Given the description of an element on the screen output the (x, y) to click on. 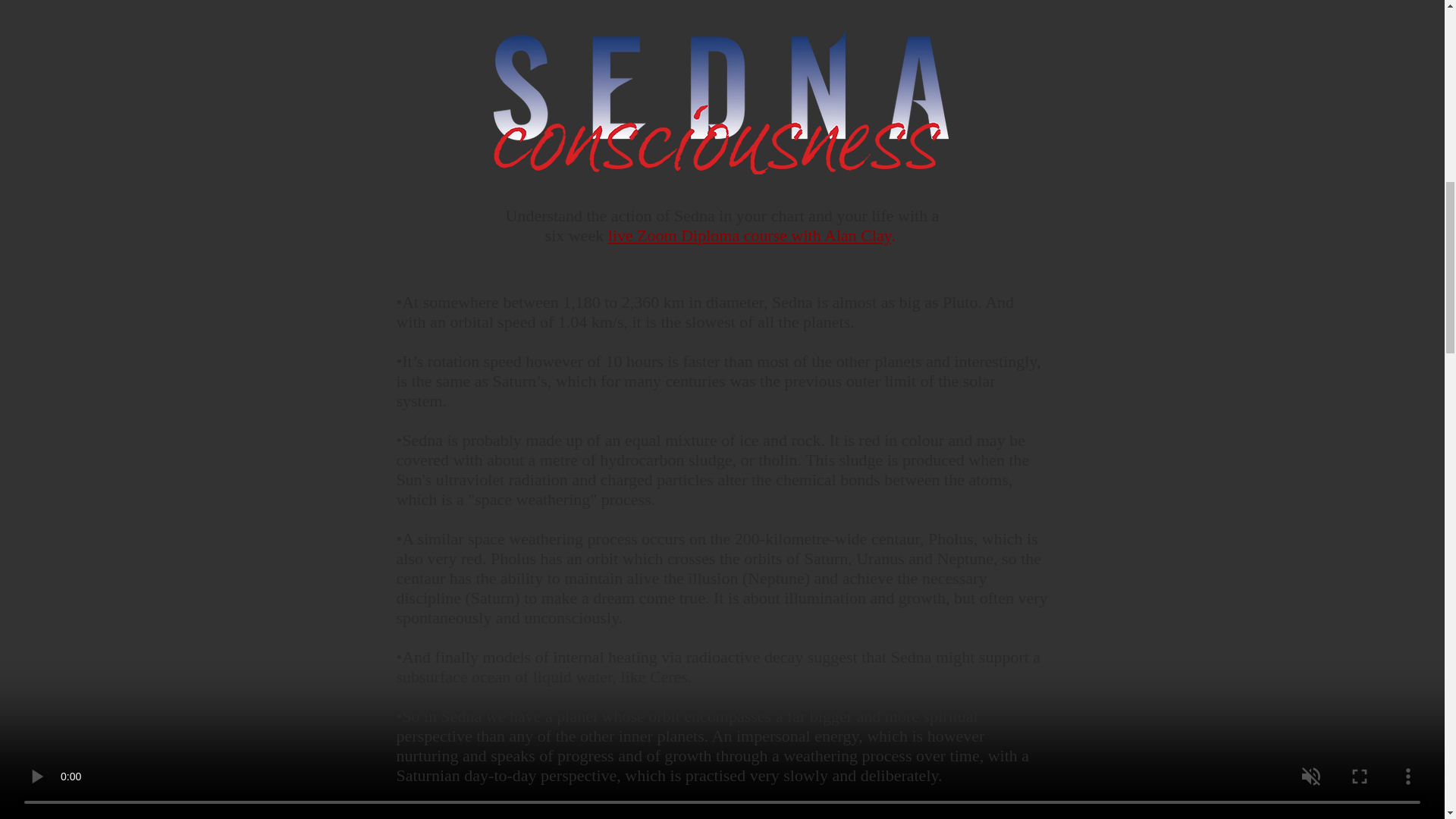
live Zoom Diploma course with Alan Clay (749, 235)
